Given the description of an element on the screen output the (x, y) to click on. 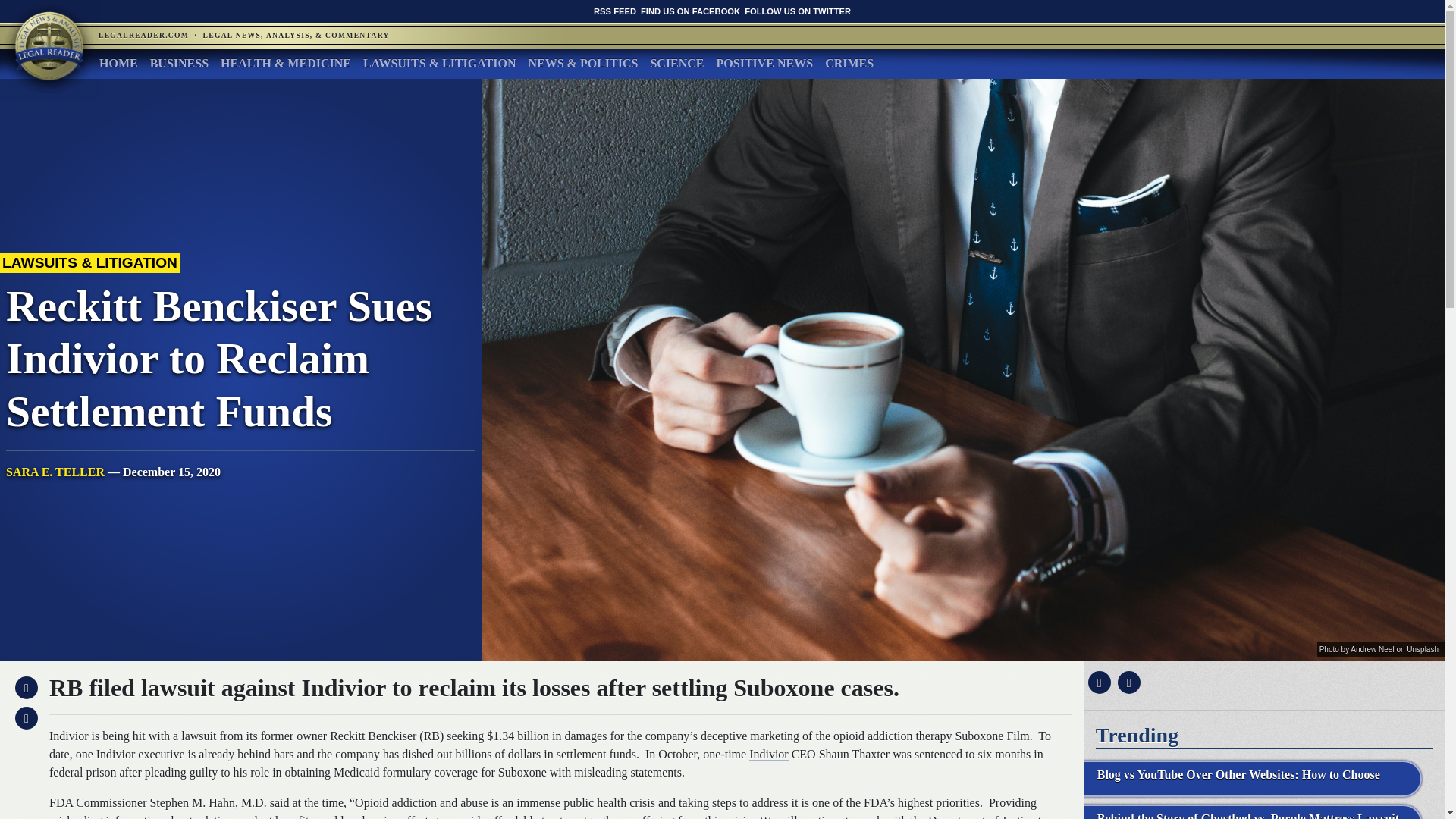
Home (118, 63)
CRIMES (848, 63)
Share on twitter (1126, 682)
Positive News (764, 63)
SARA E. TELLER (54, 472)
RSS FEED (615, 10)
Posts by Sara E. Teller (54, 472)
Business (179, 63)
Indivior (769, 753)
Crimes (848, 63)
